Given the description of an element on the screen output the (x, y) to click on. 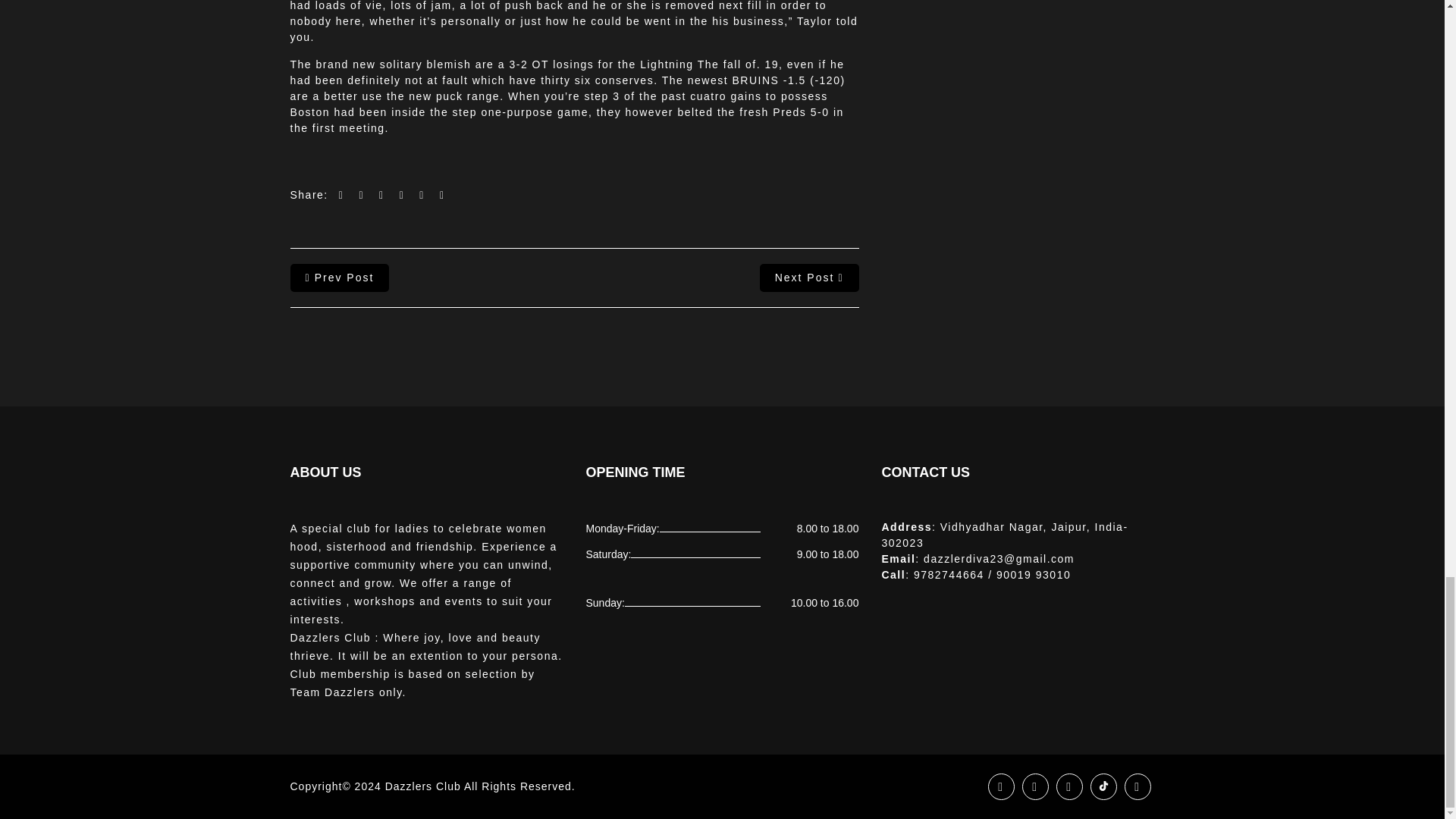
Instagram (1068, 786)
Next Post (809, 277)
Facebook (1000, 786)
Prev Post (338, 277)
Twitter (1035, 786)
